Given the description of an element on the screen output the (x, y) to click on. 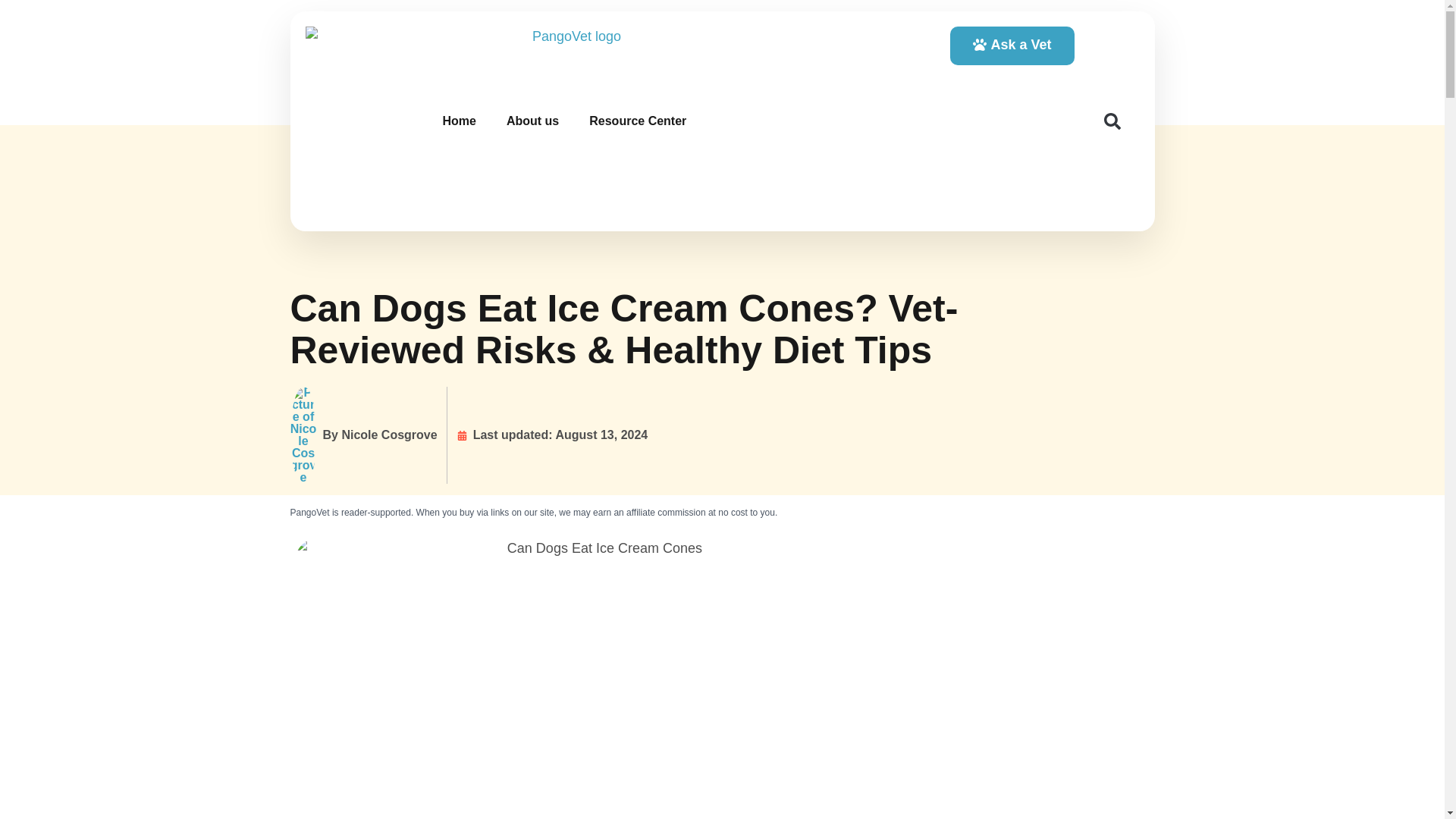
Home (458, 121)
About us (532, 121)
By Nicole Cosgrove (362, 435)
Resource Center (637, 121)
Ask a Vet (1012, 45)
